Given the description of an element on the screen output the (x, y) to click on. 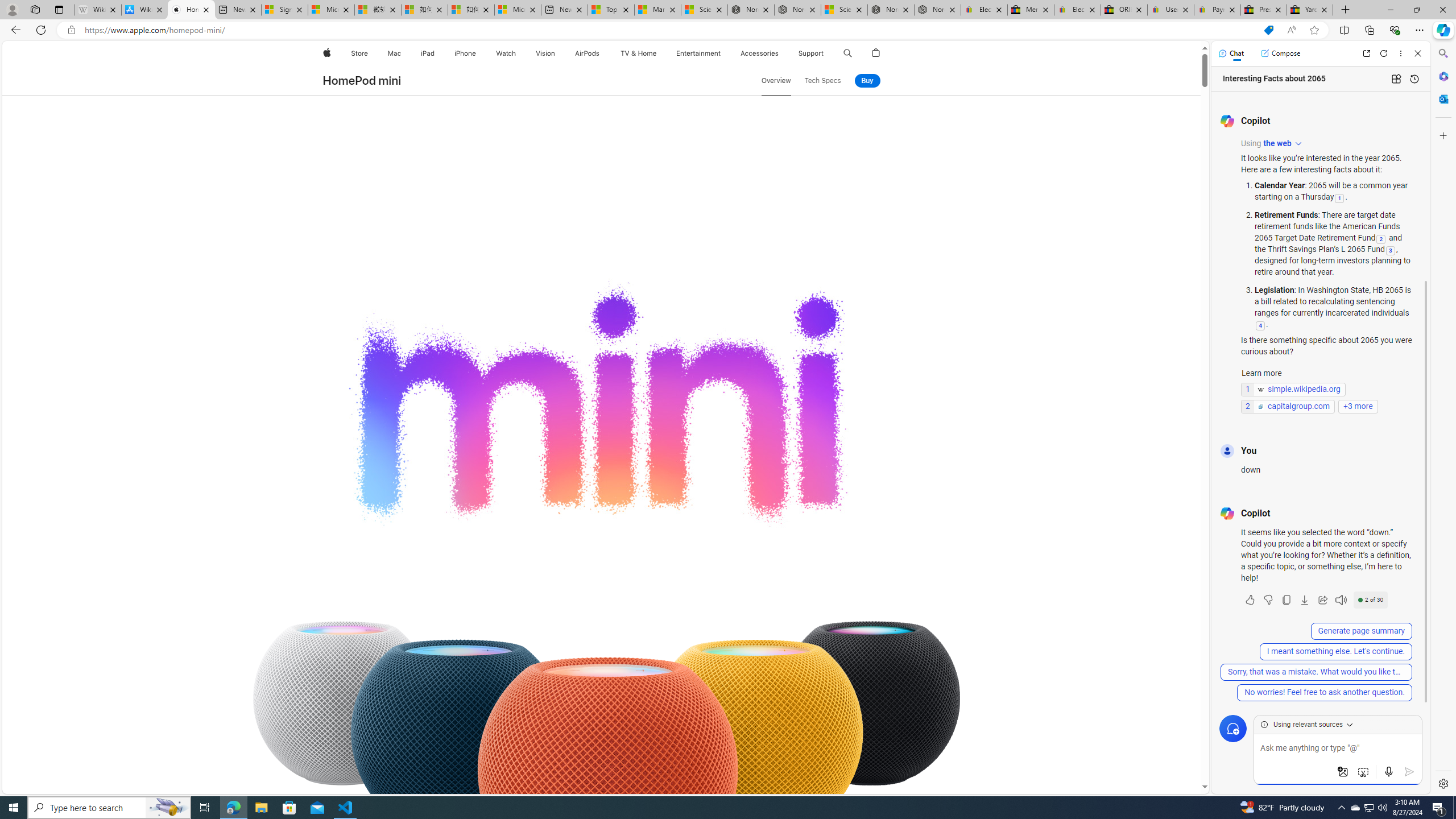
Vision (545, 53)
Mac (394, 53)
Store menu (370, 53)
Class: globalnav-item globalnav-search shift-0-1 (847, 53)
iPhone (464, 53)
Overview (775, 80)
Accessories (759, 53)
Support (810, 53)
Shopping Bag (876, 53)
AirPods menu (601, 53)
Tech Specs (822, 80)
